Given the description of an element on the screen output the (x, y) to click on. 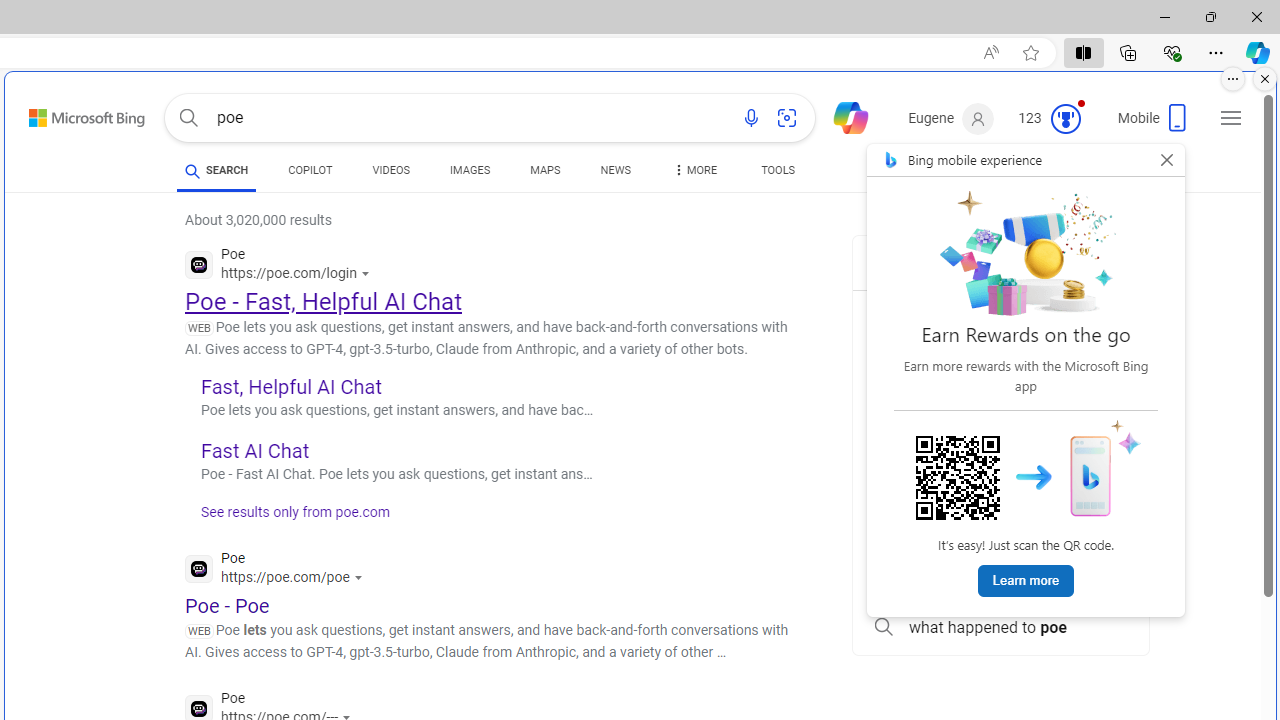
poes meaning (1000, 358)
VIDEOS (390, 173)
MAPS (545, 170)
Search using voice (751, 117)
NEWS (614, 170)
poe.com login (1000, 538)
what happened to poe (1000, 628)
MAPS (545, 173)
Search button (188, 117)
Back to Bing search (74, 113)
SEARCH (216, 170)
Microsoft Rewards 123 (1052, 119)
